Given the description of an element on the screen output the (x, y) to click on. 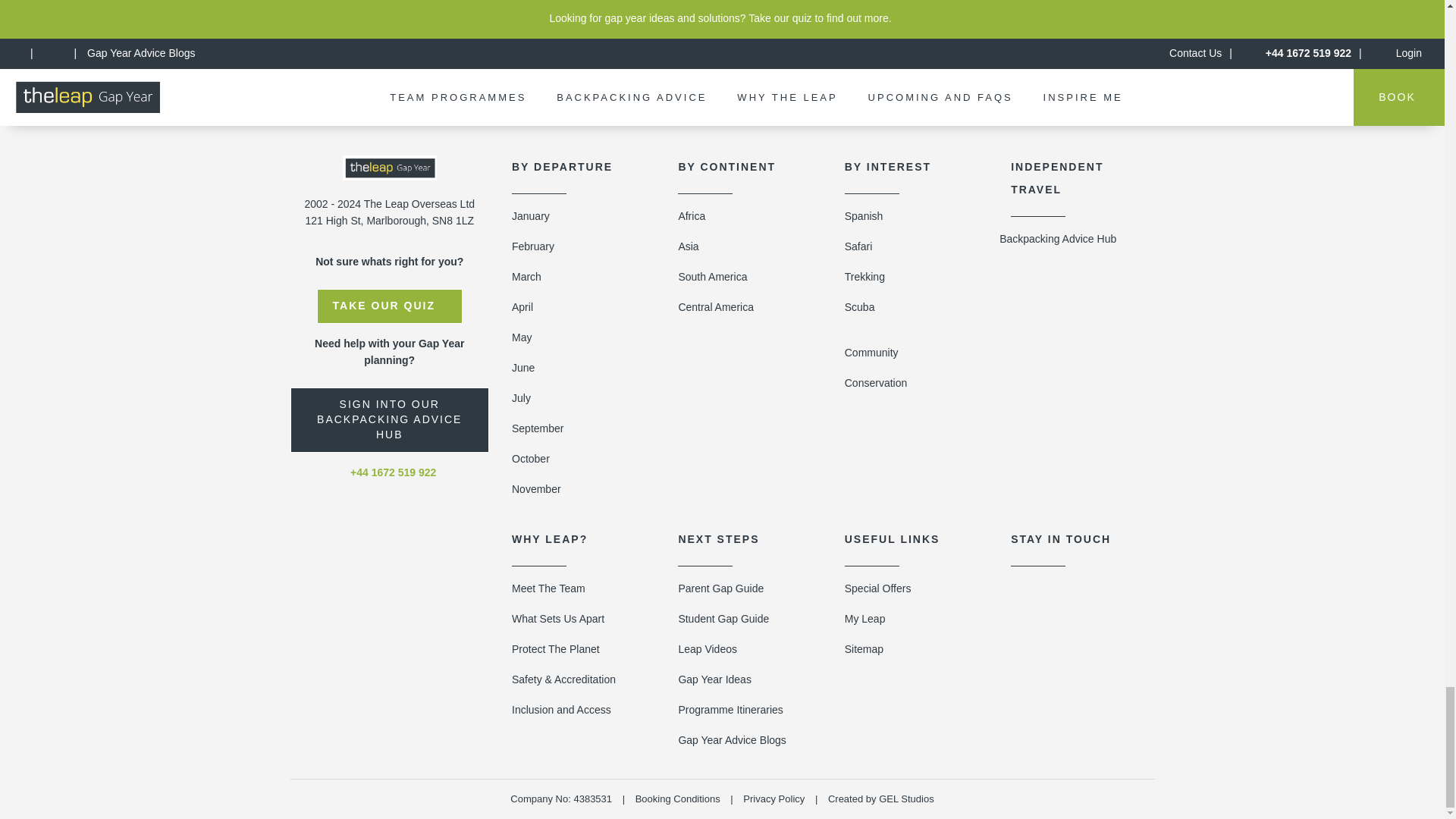
Send (812, 11)
